Given the description of an element on the screen output the (x, y) to click on. 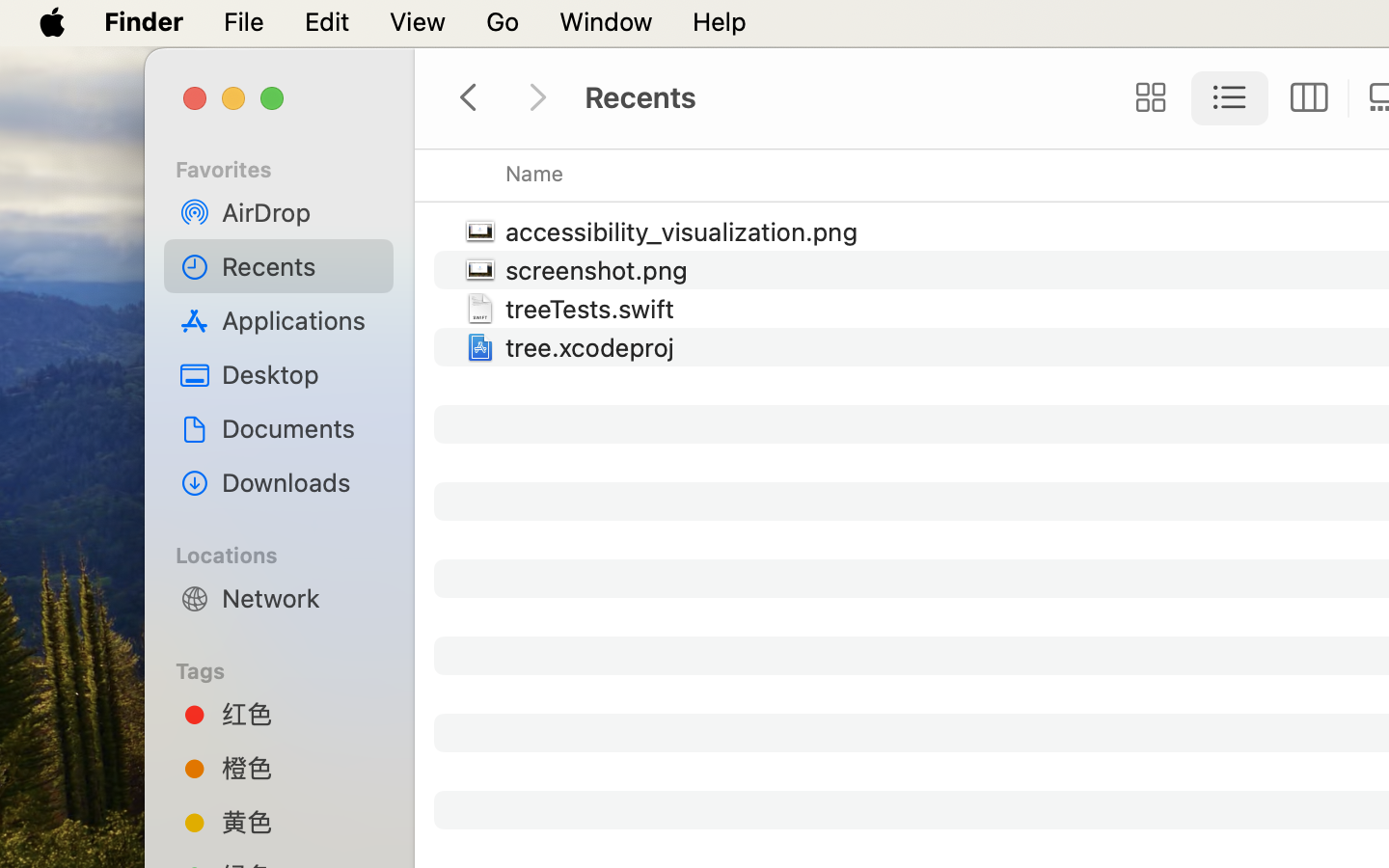
Network Element type: AXStaticText (299, 597)
accessibility_visualization.png Element type: AXTextField (685, 231)
Documents Element type: AXStaticText (299, 427)
Tags Element type: AXStaticText (289, 668)
Recents Element type: AXStaticText (299, 265)
